Given the description of an element on the screen output the (x, y) to click on. 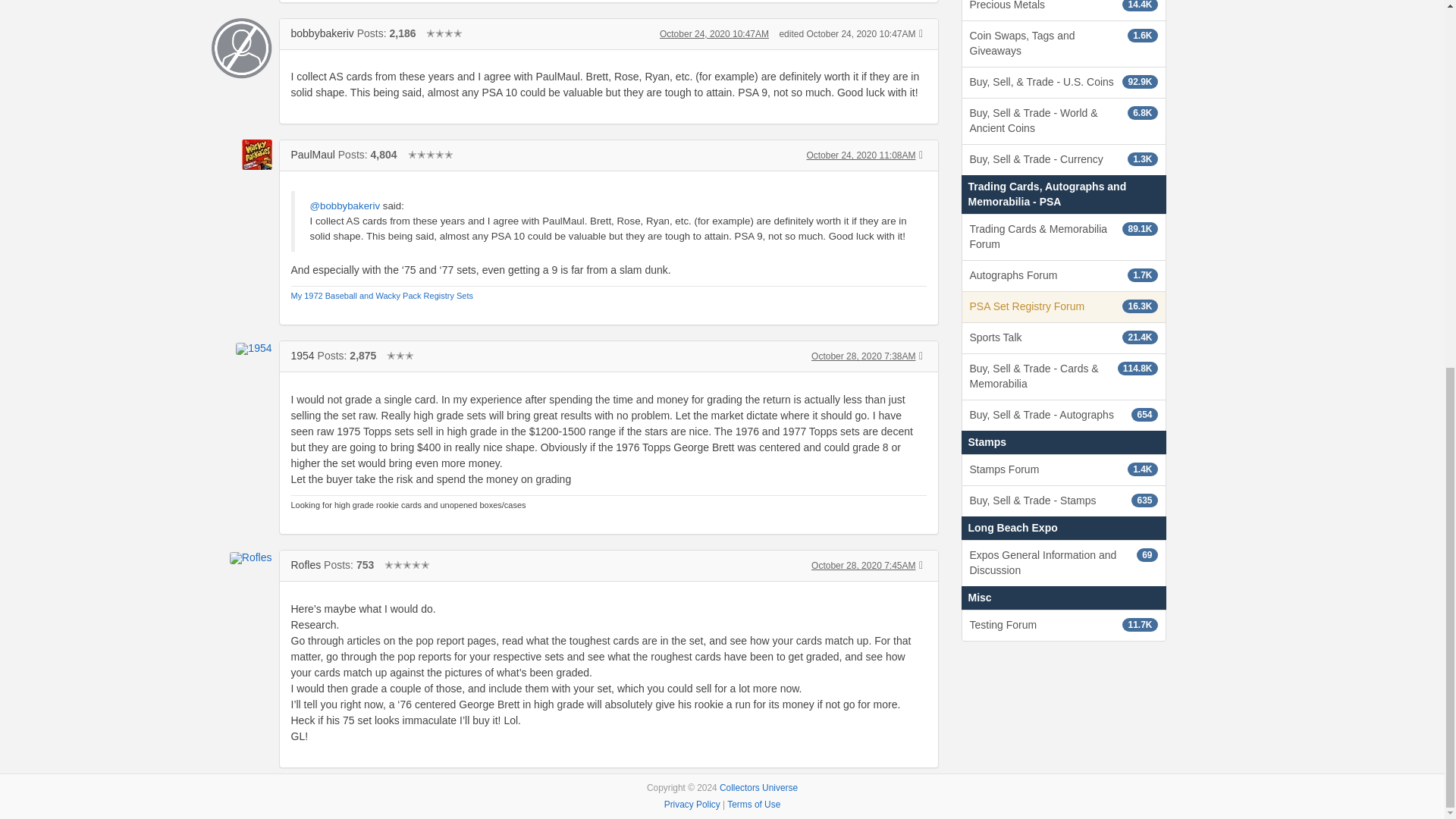
Register (390, 792)
My 1972 Baseball and Wacky Pack Registry Sets (382, 295)
PaulMaul (312, 154)
bobbybakeriv (322, 33)
October 28, 2020 7:38AM (862, 356)
October 24, 2020 10:47AM (713, 33)
Expert Collector (444, 33)
October 24, 2020 10:47AM (713, 33)
1954 (302, 355)
October 28, 2020 7:45AM (862, 565)
Sign In (339, 792)
Rofles (306, 564)
October 24, 2020 11:08AM (860, 154)
